Given the description of an element on the screen output the (x, y) to click on. 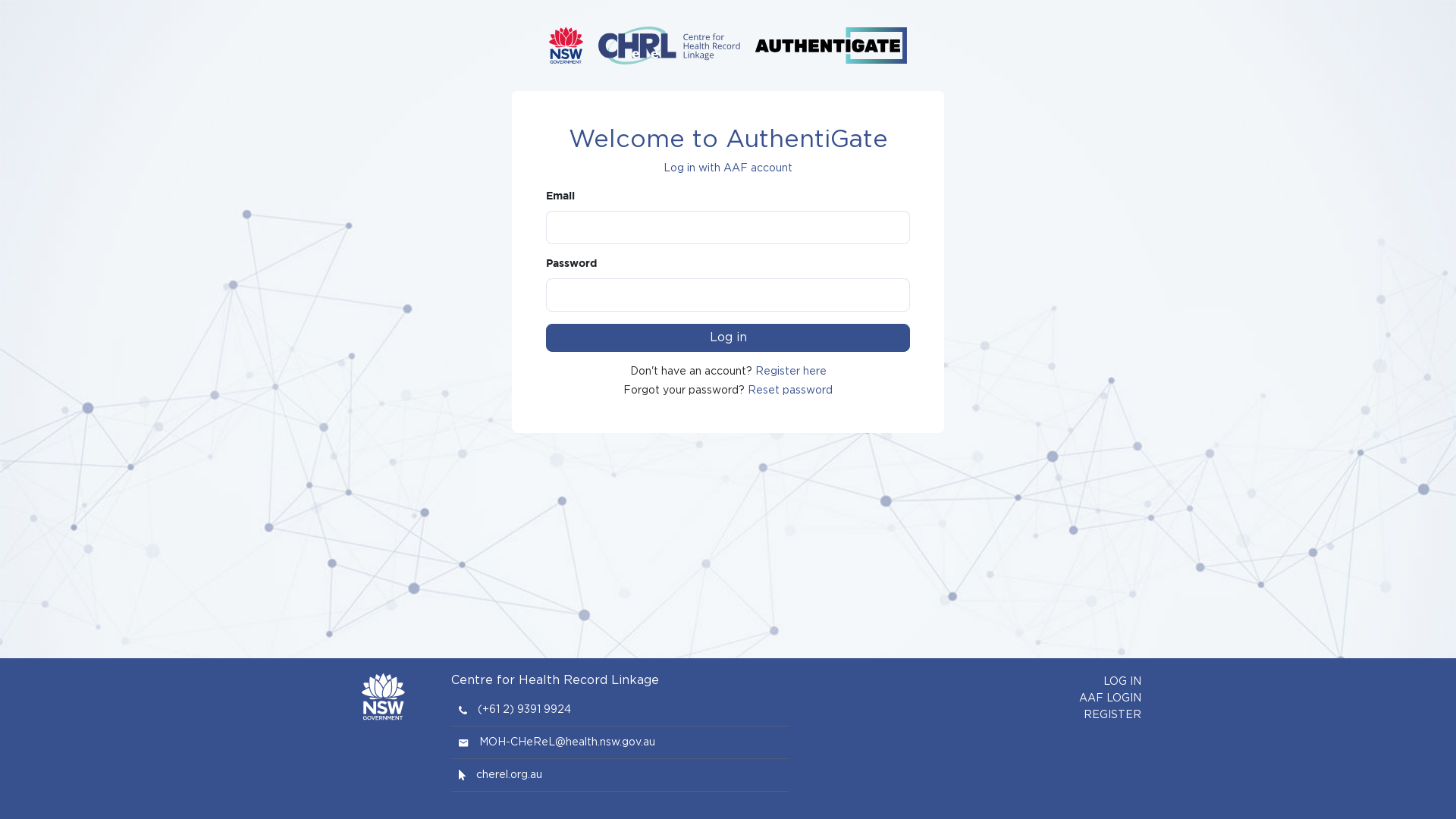
Log in with AAF account Element type: text (727, 168)
Register here Element type: text (790, 371)
Log in Element type: text (728, 337)
LOG IN Element type: text (1122, 681)
MOH-CHeReL@health.nsw.gov.au Element type: text (567, 742)
REGISTER Element type: text (1112, 714)
Reset password Element type: text (789, 390)
AAF LOGIN Element type: text (1110, 698)
cherel.org.au Element type: text (509, 774)
(+61 2) 9391 9924 Element type: text (524, 709)
